Given the description of an element on the screen output the (x, y) to click on. 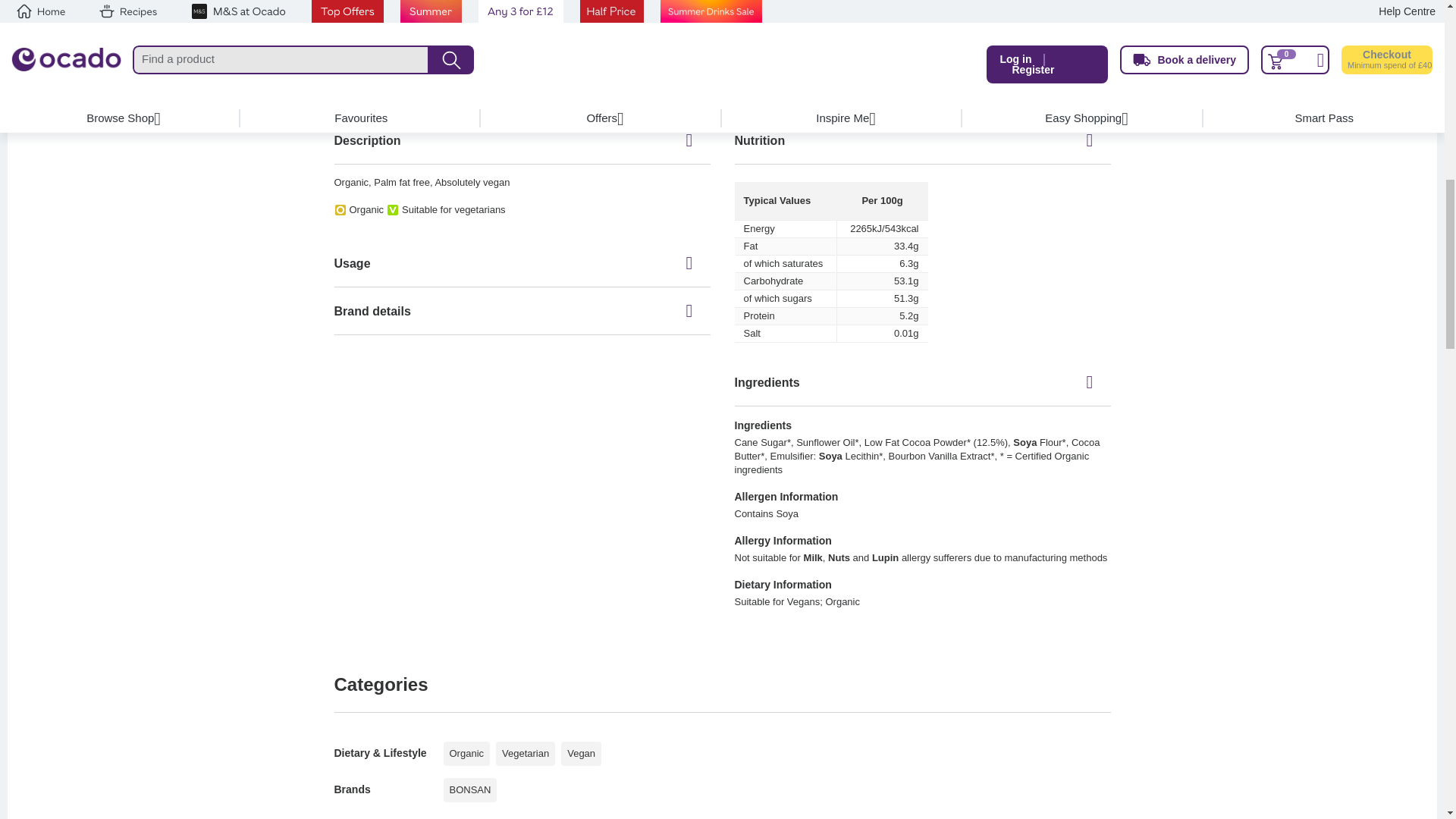
Suitable for vegetarians (558, 11)
Reviews 4.10 out of 5 (368, 31)
Reviews 4.50 out of 5 (582, 31)
Suitable for vegetarians (347, 11)
Add to trolley (482, 26)
